Given the description of an element on the screen output the (x, y) to click on. 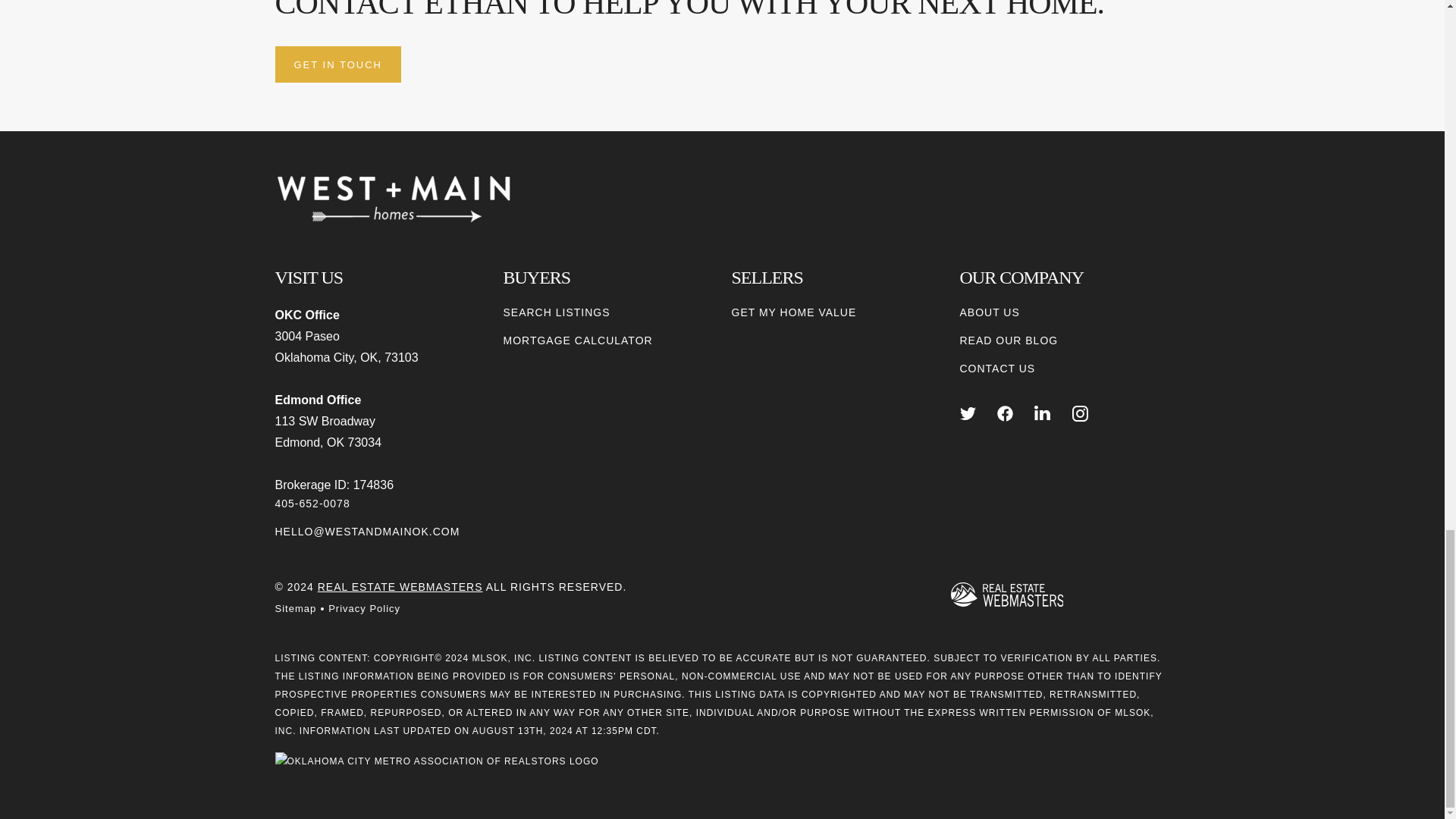
TWITTER (967, 413)
FACEBOOK (1005, 413)
LINKEDIN (1041, 413)
